Given the description of an element on the screen output the (x, y) to click on. 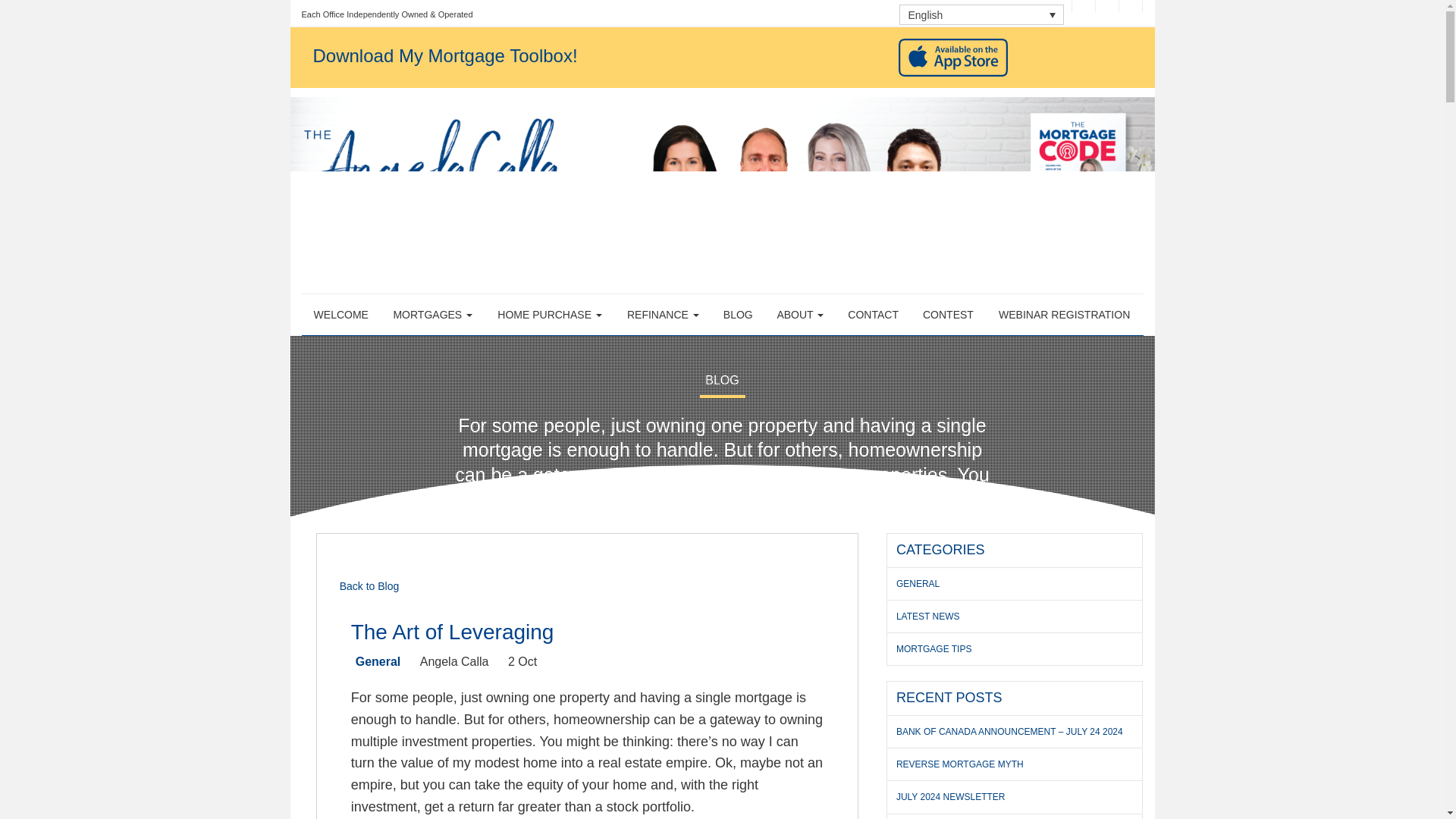
MORTGAGES (432, 314)
English (981, 14)
REFINANCE (662, 314)
BLOG (737, 314)
ABOUT (799, 314)
HOME PURCHASE (549, 314)
WELCOME (341, 314)
